Given the description of an element on the screen output the (x, y) to click on. 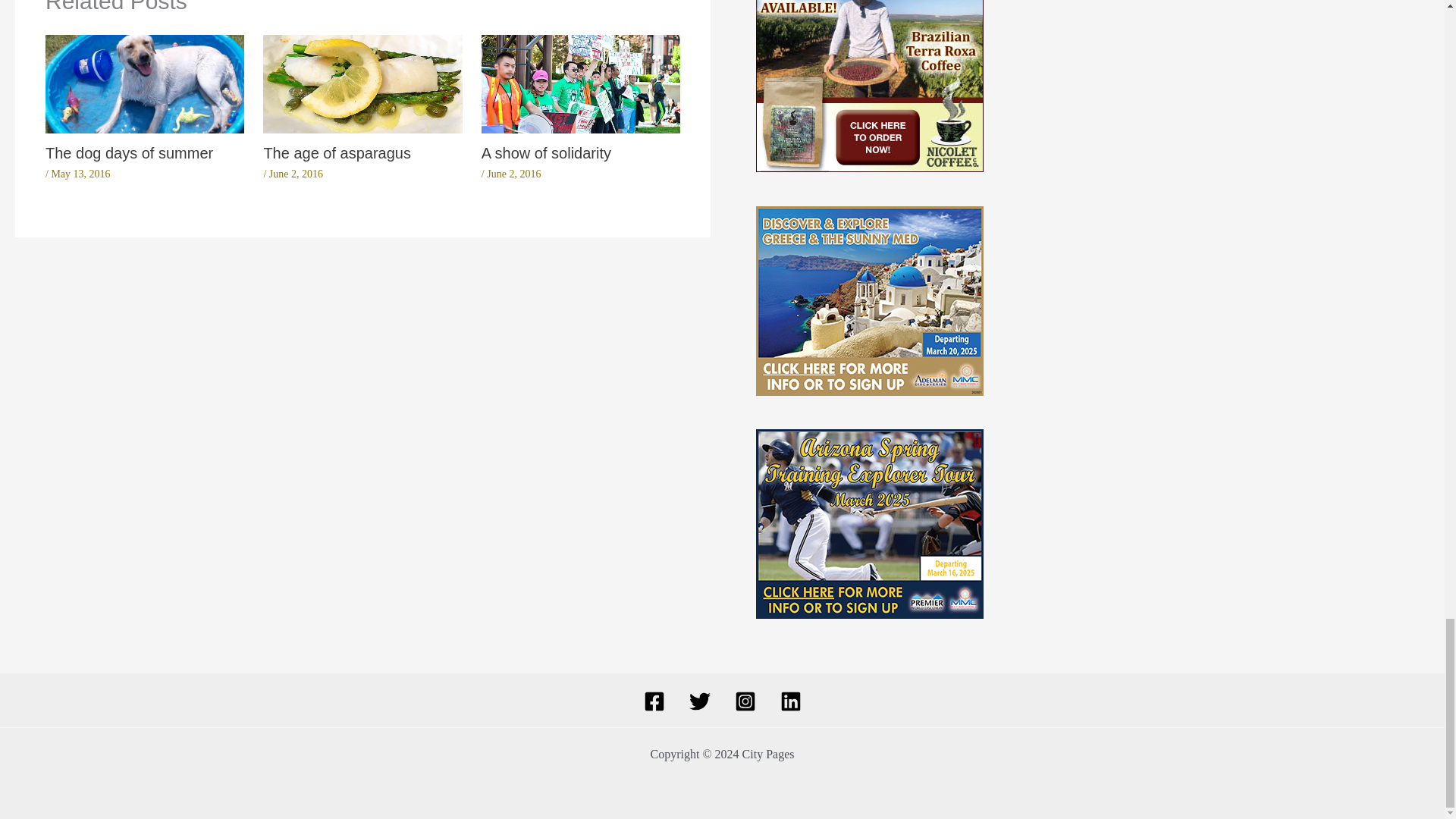
The dog days of summer (128, 152)
A show of solidarity (546, 152)
The age of asparagus (336, 152)
